Given the description of an element on the screen output the (x, y) to click on. 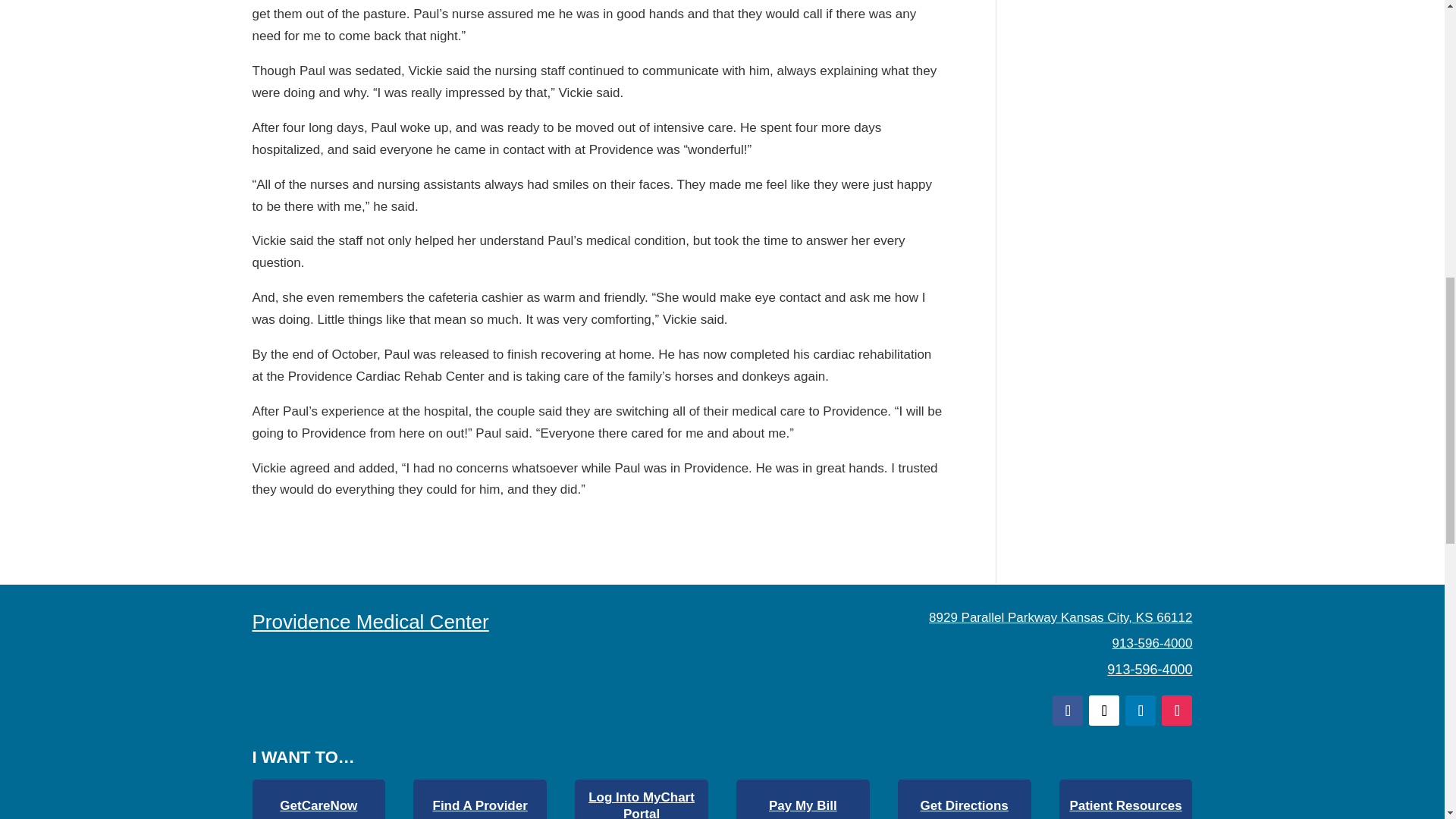
Follow on Instagram (1176, 710)
8929 Parallel Parkway Kansas City, KS 66112 (1060, 617)
Follow on X (1104, 710)
Providence Medical Center (369, 621)
913-596-4000 (1149, 669)
Follow on LinkedIn (1140, 710)
Follow on Facebook (1067, 710)
913-596-4000 (1152, 643)
